Given the description of an element on the screen output the (x, y) to click on. 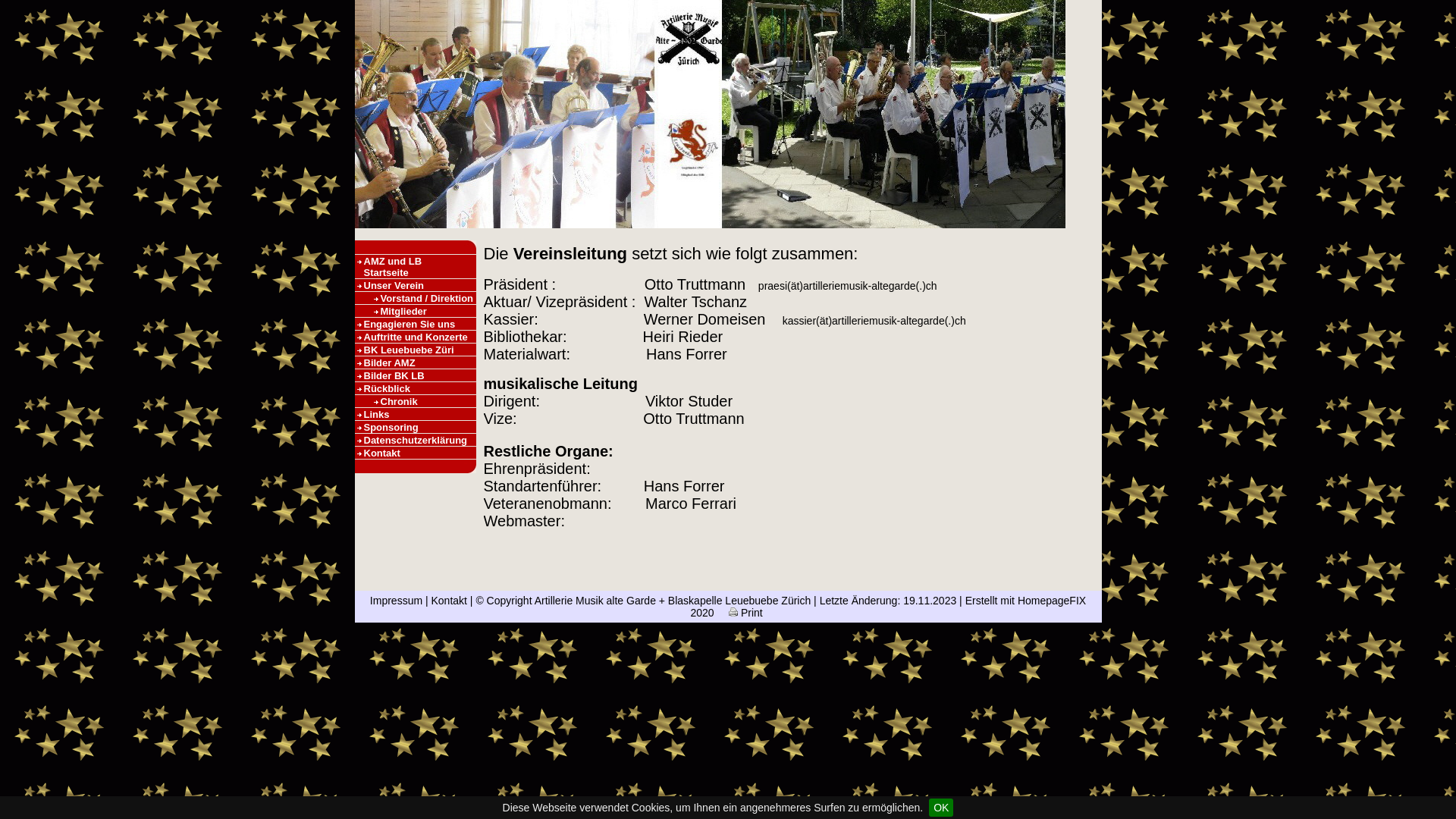
Bilder BK LB Element type: text (415, 375)
OK Element type: text (940, 807)
Vorstand / Direktion Element type: hover (709, 114)
Unser Verein Element type: text (415, 285)
Vorstand / Direktion Element type: text (415, 297)
Kontakt Element type: text (415, 452)
Auftritte und Konzerte Element type: text (415, 336)
Mitglieder Element type: text (415, 310)
Print Element type: text (745, 612)
Links Element type: text (415, 413)
Kontakt Element type: text (448, 600)
Sponsoring Element type: text (415, 426)
AMZ und LB Startseite Element type: text (415, 266)
Bilder AMZ Element type: text (415, 362)
Engagieren Sie uns Element type: text (415, 323)
Impressum Element type: text (396, 600)
Chronik Element type: text (415, 401)
HomepageFIX 2020 Element type: text (887, 606)
